Given the description of an element on the screen output the (x, y) to click on. 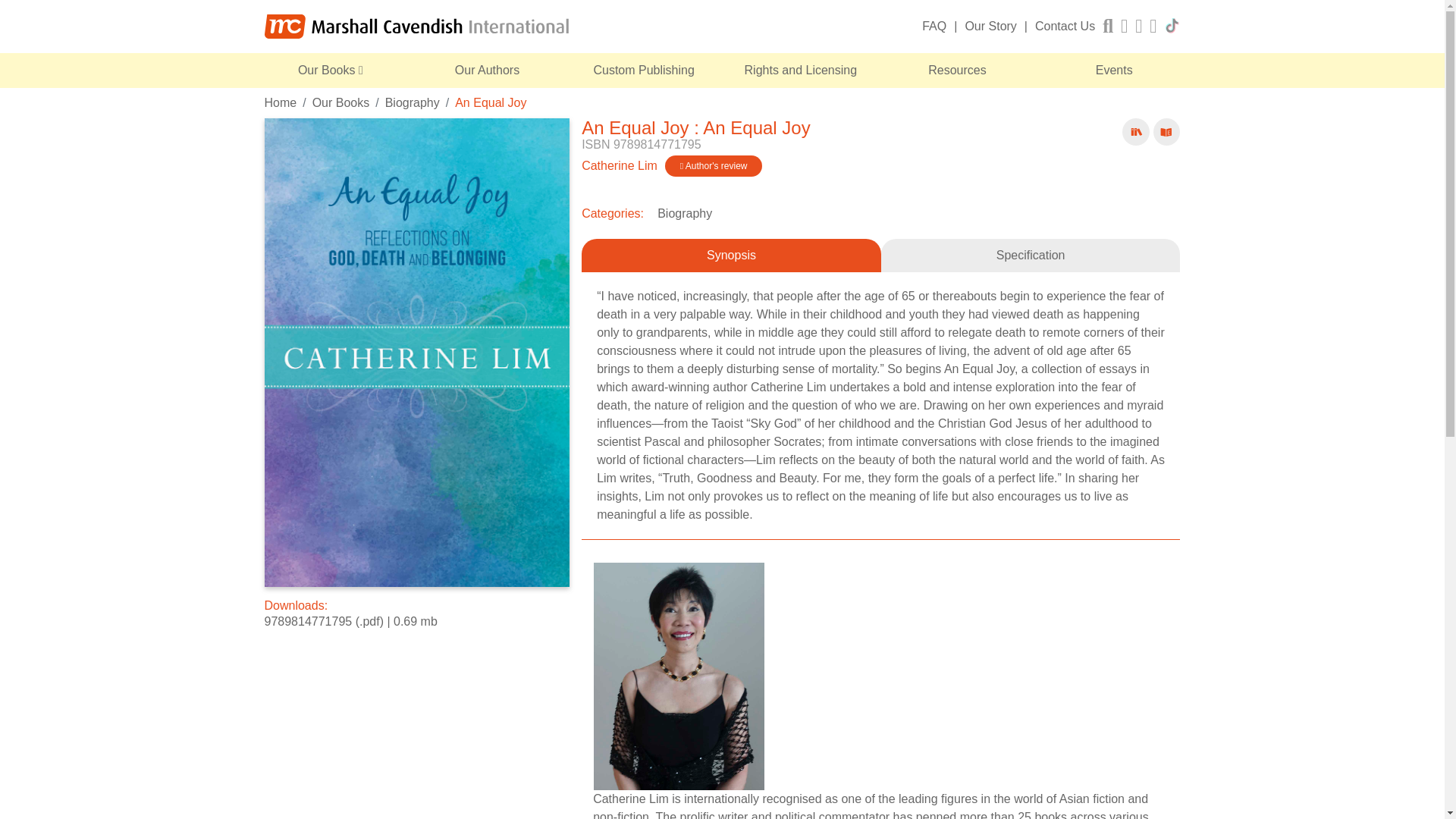
Rights and Licensing (800, 70)
E-Book (1166, 131)
Book (1136, 131)
Events (1113, 70)
Our Books (330, 70)
Resources (957, 70)
Contact Us (1064, 25)
Custom Publishing (644, 70)
Our Story (989, 25)
Our Authors (487, 70)
FAQ (933, 25)
